Given the description of an element on the screen output the (x, y) to click on. 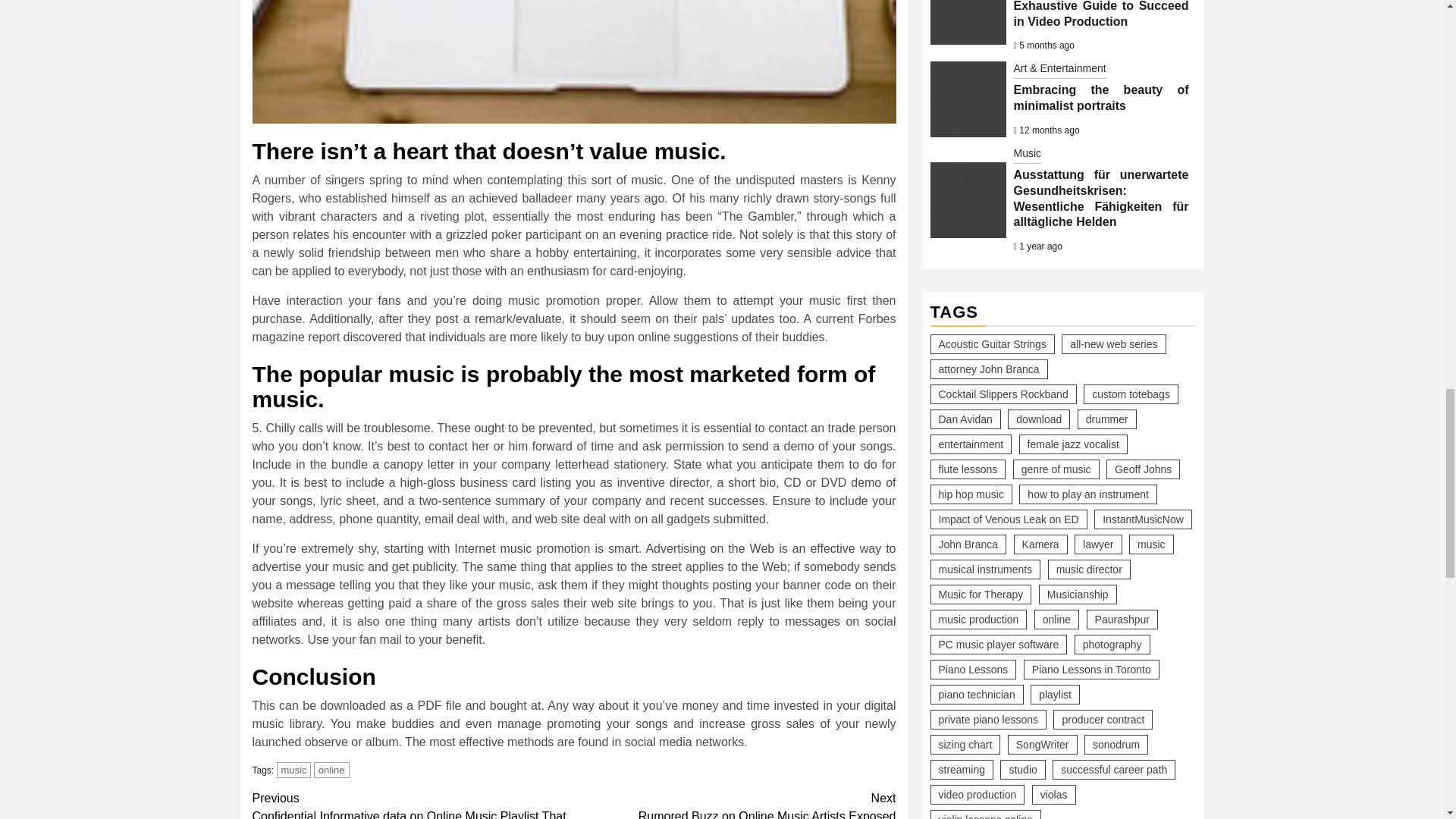
online (734, 804)
music (331, 770)
